Given the description of an element on the screen output the (x, y) to click on. 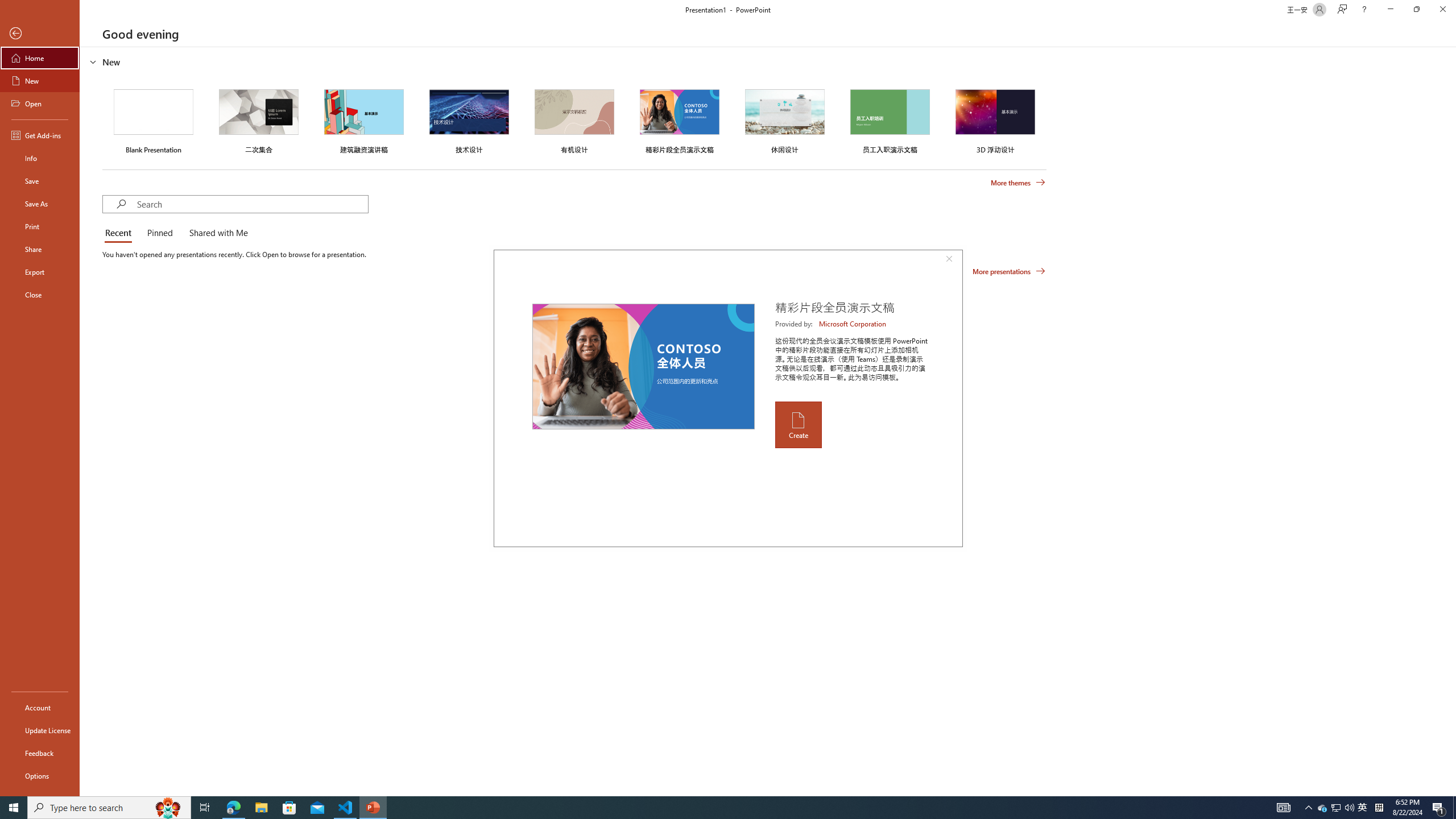
Update License (40, 730)
Export (40, 271)
Back (40, 33)
Recent (119, 233)
Microsoft Corporation (853, 323)
Hide or show region (92, 61)
Get Add-ins (40, 134)
